Given the description of an element on the screen output the (x, y) to click on. 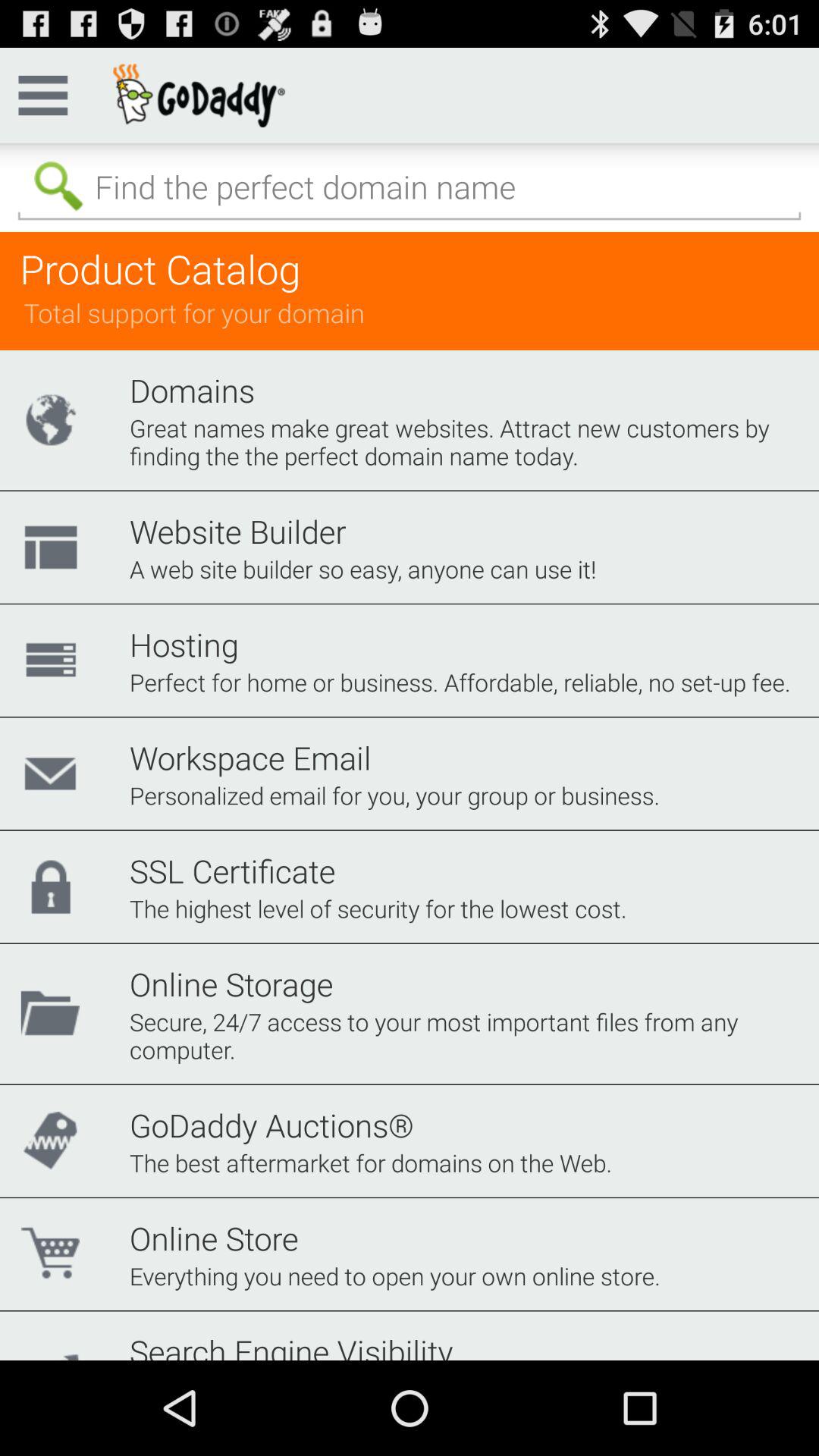
search option (409, 187)
